Given the description of an element on the screen output the (x, y) to click on. 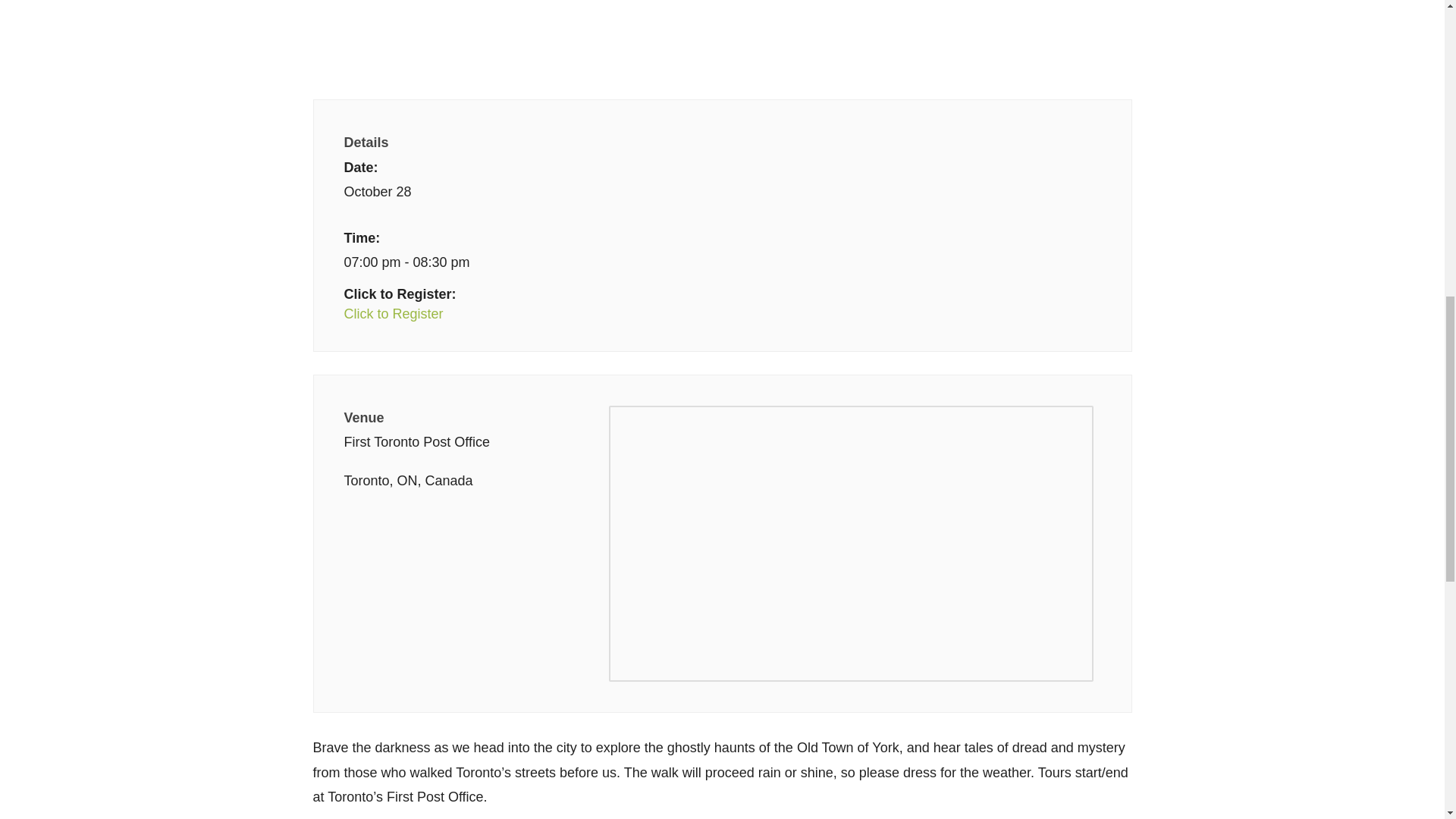
Click to Register (532, 314)
